Given the description of an element on the screen output the (x, y) to click on. 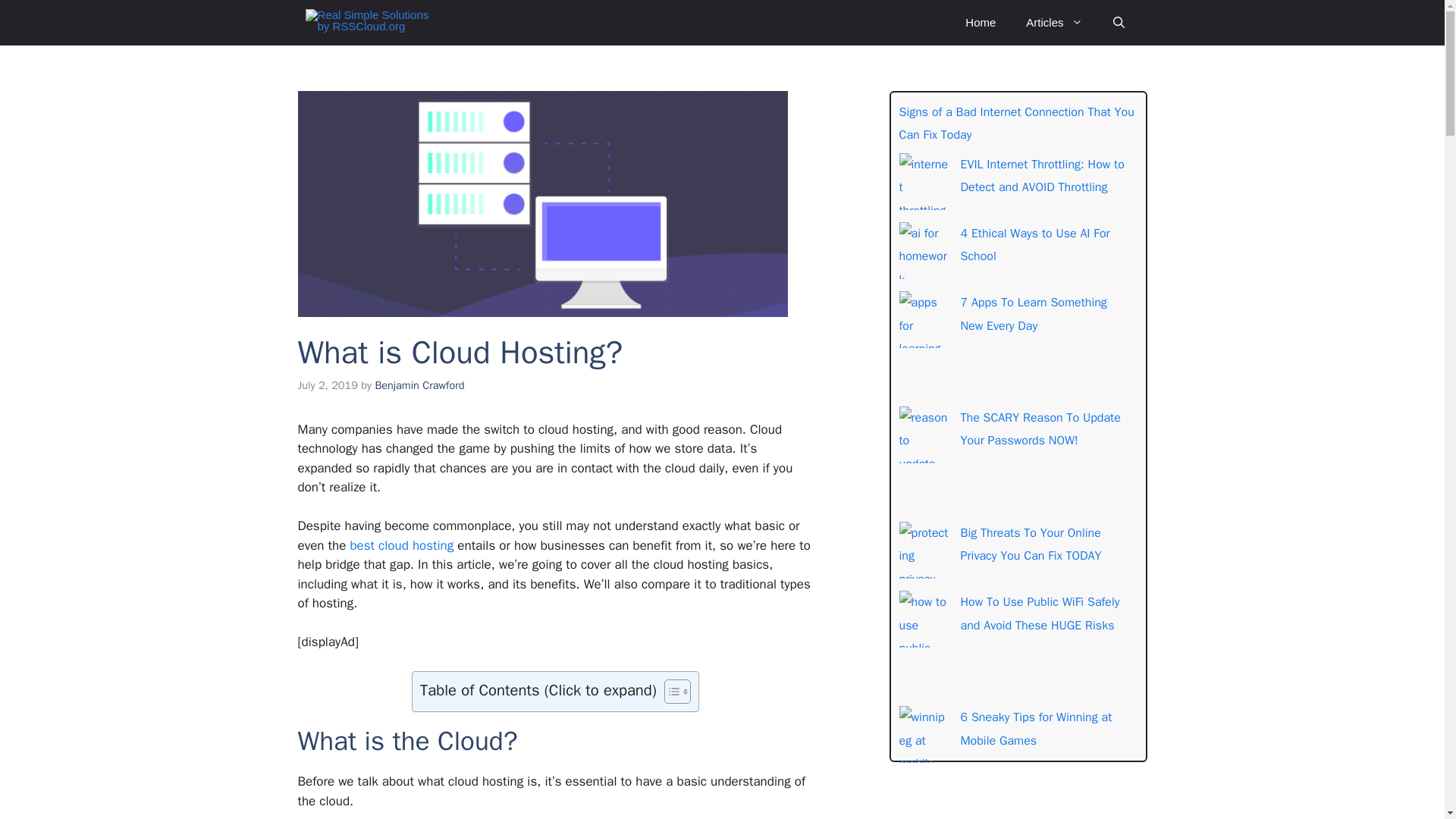
EVIL Internet Throttling: How to Detect and AVOID Throttling (1041, 175)
7 Apps To Learn Something New Every Day (1032, 313)
View all posts by Benjamin Crawford (419, 385)
The SCARY Reason To Update Your Passwords NOW! (1039, 428)
Benjamin Crawford (419, 385)
4 Ethical Ways to Use AI For School (1034, 244)
Real Simple Solutions by RSSCloud.org (372, 22)
Signs of a Bad Internet Connection That You Can Fix Today (1016, 123)
Big Threats To Your Online Privacy You Can Fix TODAY (1029, 544)
Articles (1053, 22)
